Given the description of an element on the screen output the (x, y) to click on. 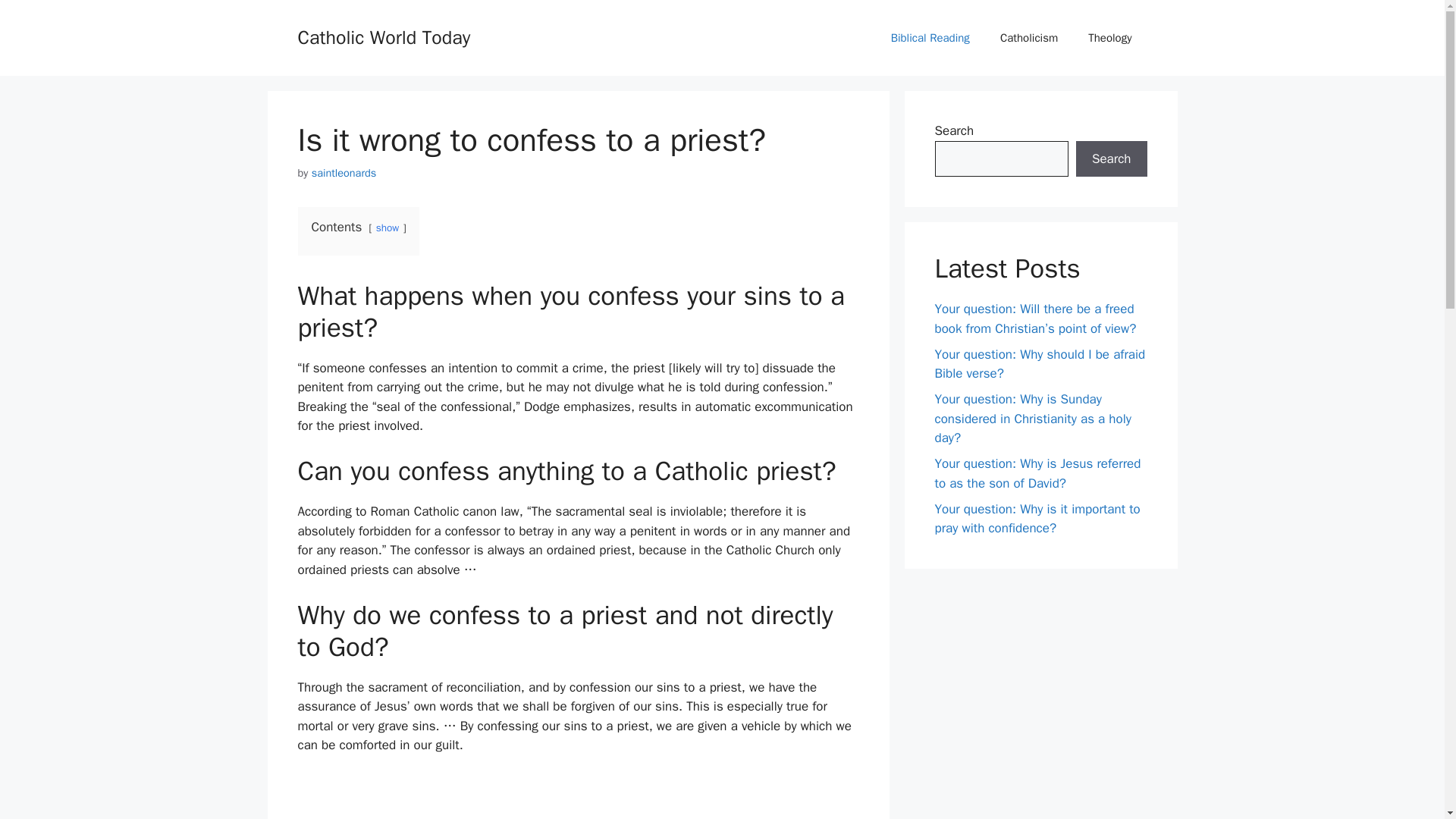
Your question: Why should I be afraid Bible verse? (1039, 363)
Catholicism (1029, 37)
Catholic World Today (383, 37)
View all posts by saintleonards (344, 172)
show (386, 227)
Theology (1110, 37)
saintleonards (344, 172)
Your question: Why is it important to pray with confidence? (1037, 518)
Search (1111, 158)
Biblical Reading (930, 37)
